Given the description of an element on the screen output the (x, y) to click on. 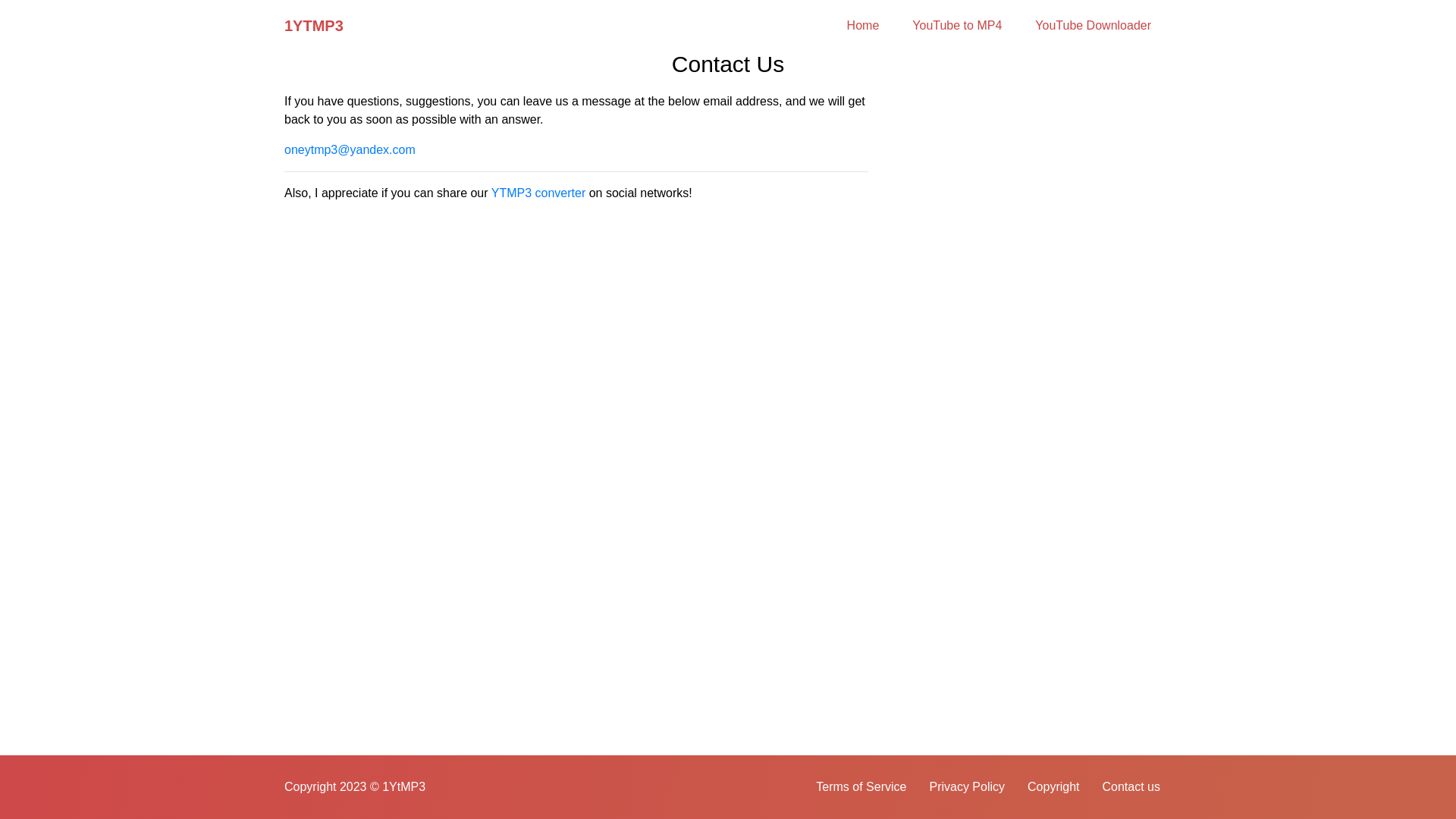
YTMP3 converter Element type: text (538, 192)
YouTube Downloader Element type: text (1093, 25)
Home Element type: text (863, 25)
YouTube to MP4 Element type: text (956, 25)
oneytmp3@yandex.com Element type: text (349, 149)
Privacy Policy Element type: text (966, 786)
Copyright Element type: text (1053, 786)
1YTMP3 Element type: text (313, 25)
Contact us Element type: text (1131, 786)
Terms of Service Element type: text (860, 786)
